Given the description of an element on the screen output the (x, y) to click on. 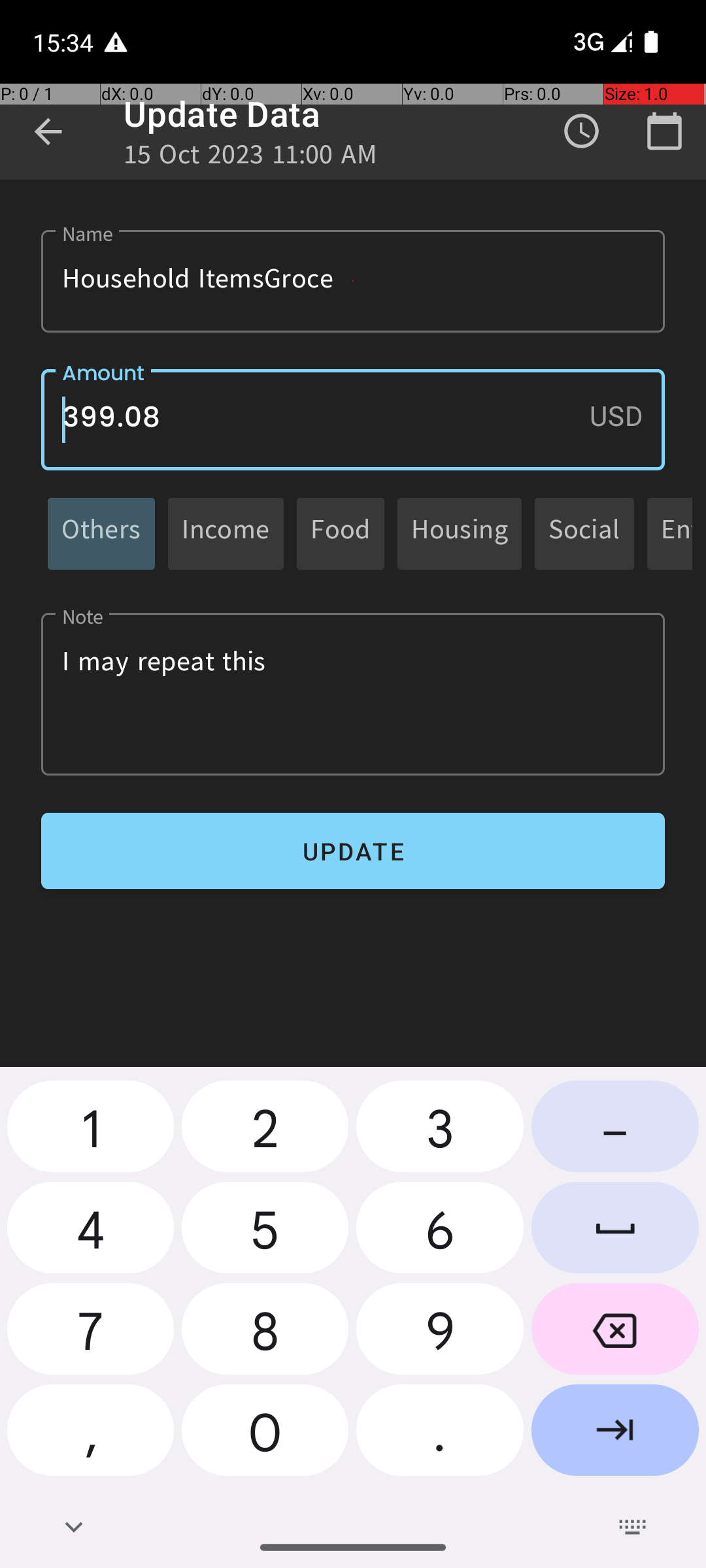
Update Data Element type: android.widget.TextView (221, 113)
15 Oct 2023 11:00 AM Element type: android.widget.TextView (250, 157)
Time Element type: android.widget.TextView (580, 131)
Household ItemsGroce Element type: android.widget.EditText (352, 280)
399.08 Element type: android.widget.EditText (352, 419)
I may repeat this Element type: android.widget.EditText (352, 693)
UPDATE Element type: android.widget.Button (352, 850)
Others Element type: android.widget.TextView (101, 533)
Income Element type: android.widget.TextView (225, 533)
Food Element type: android.widget.TextView (340, 533)
Housing Element type: android.widget.TextView (459, 533)
Social Element type: android.widget.TextView (584, 533)
Entertainment Element type: android.widget.TextView (676, 533)
Dash Element type: android.widget.FrameLayout (614, 1130)
Next Element type: android.widget.FrameLayout (614, 1434)
